Given the description of an element on the screen output the (x, y) to click on. 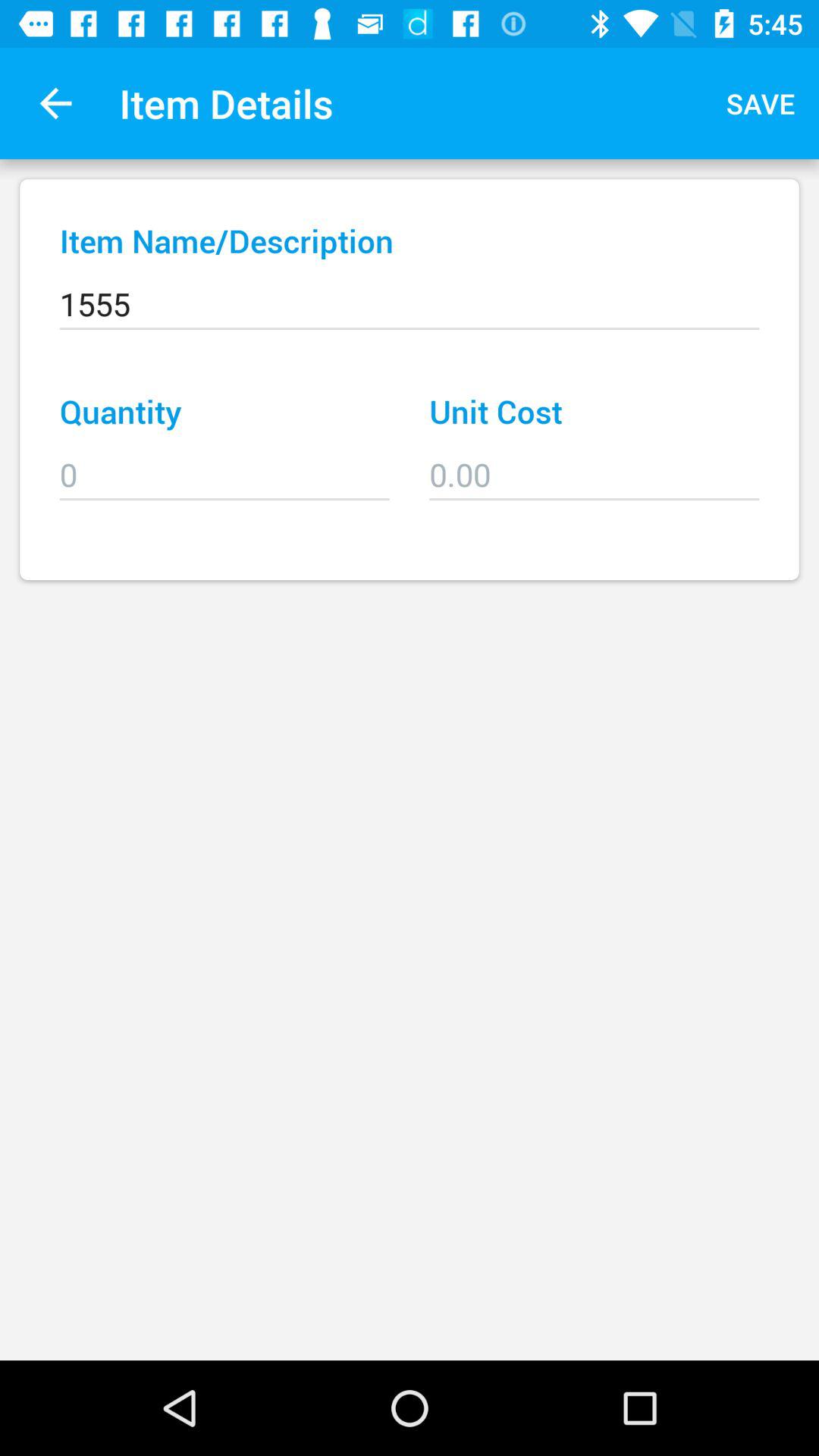
turn off the icon to the left of the unit cost (224, 463)
